Given the description of an element on the screen output the (x, y) to click on. 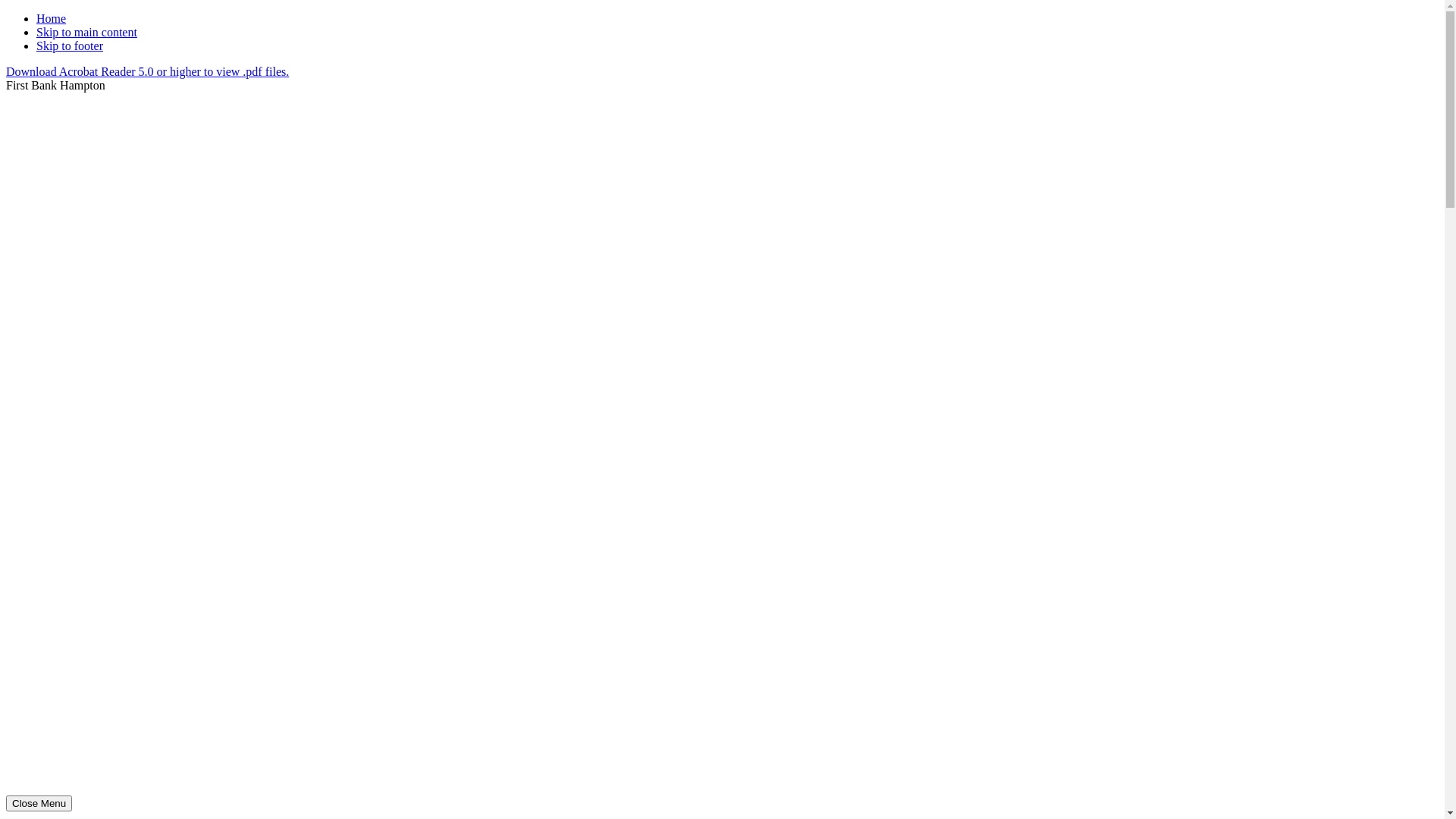
Skip to footer Element type: text (69, 45)
Skip to main content Element type: text (86, 31)
First Bank Hampton, Hampton, IA Element type: hover (722, 611)
Download Acrobat Reader 5.0 or higher to view .pdf files. Element type: text (147, 71)
Home Element type: text (50, 18)
Close Menu Element type: text (39, 803)
